Given the description of an element on the screen output the (x, y) to click on. 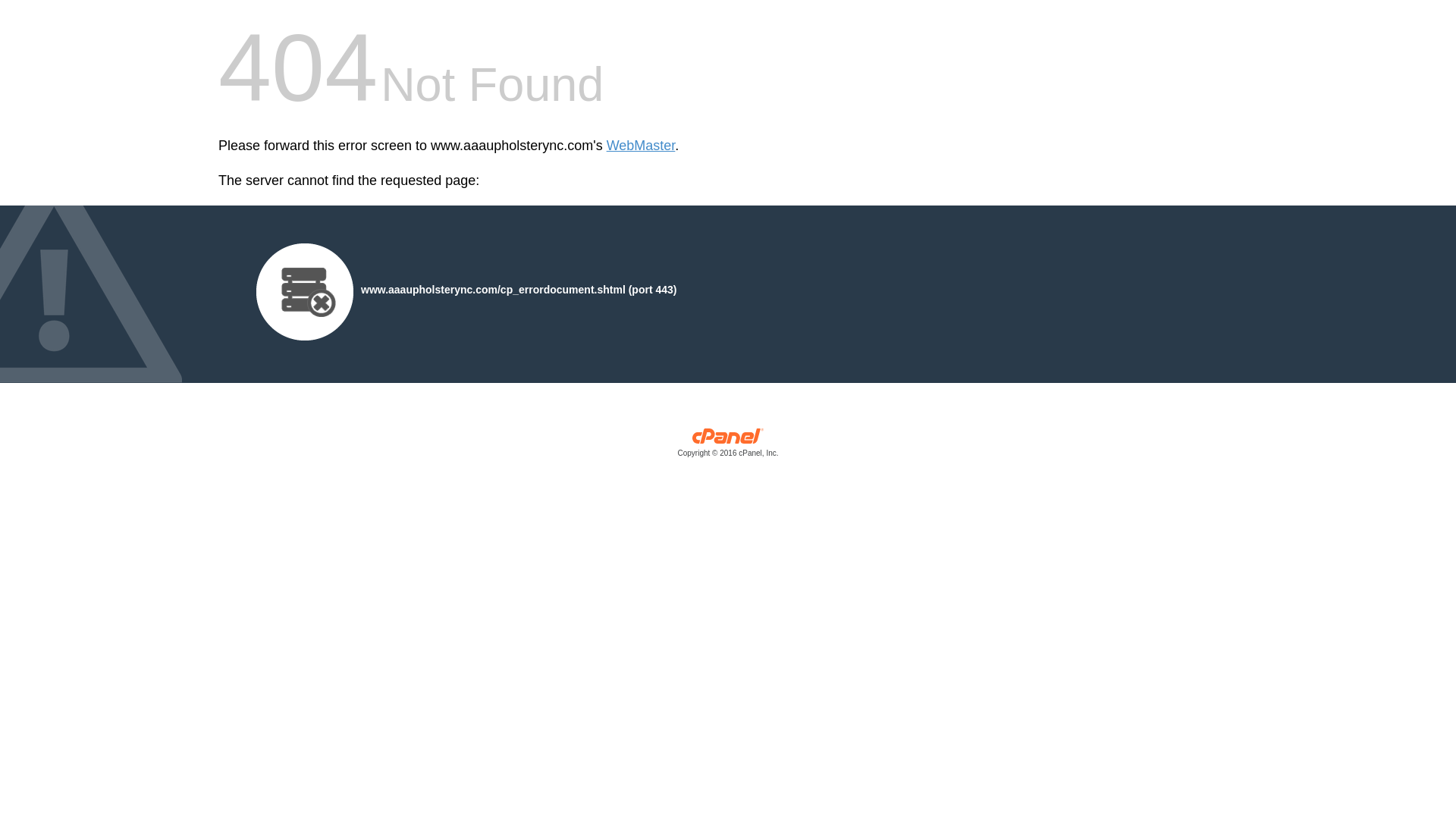
cPanel, Inc. (727, 446)
WebMaster (641, 145)
